Given the description of an element on the screen output the (x, y) to click on. 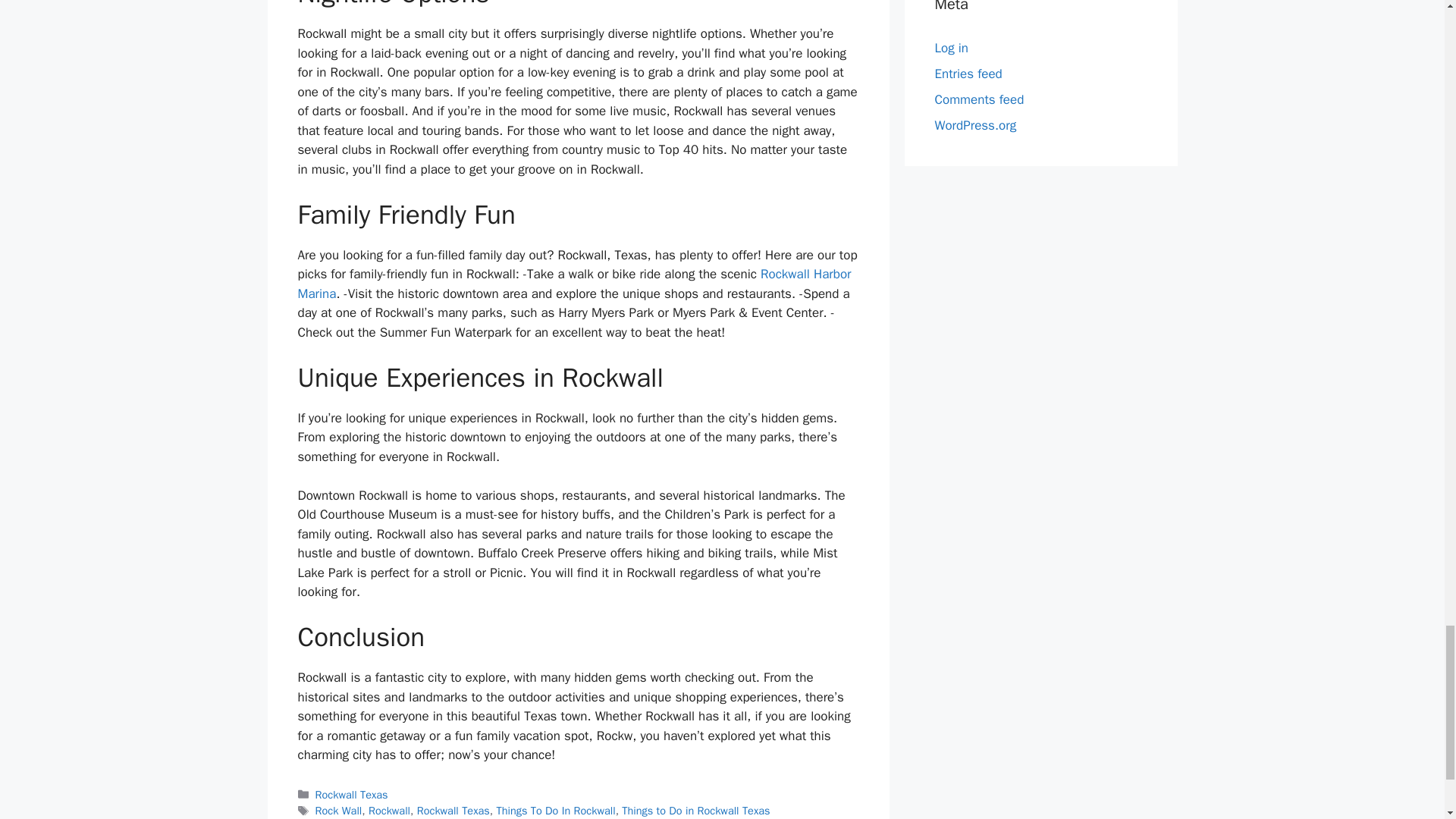
Rockwall Texas (452, 810)
Things to Do in Rockwall Texas (695, 810)
Things To Do In Rockwall (555, 810)
Rockwall Harbor Marina (573, 284)
Rock Wall (338, 810)
Rockwall (389, 810)
Rockwall Texas (351, 794)
